Given the description of an element on the screen output the (x, y) to click on. 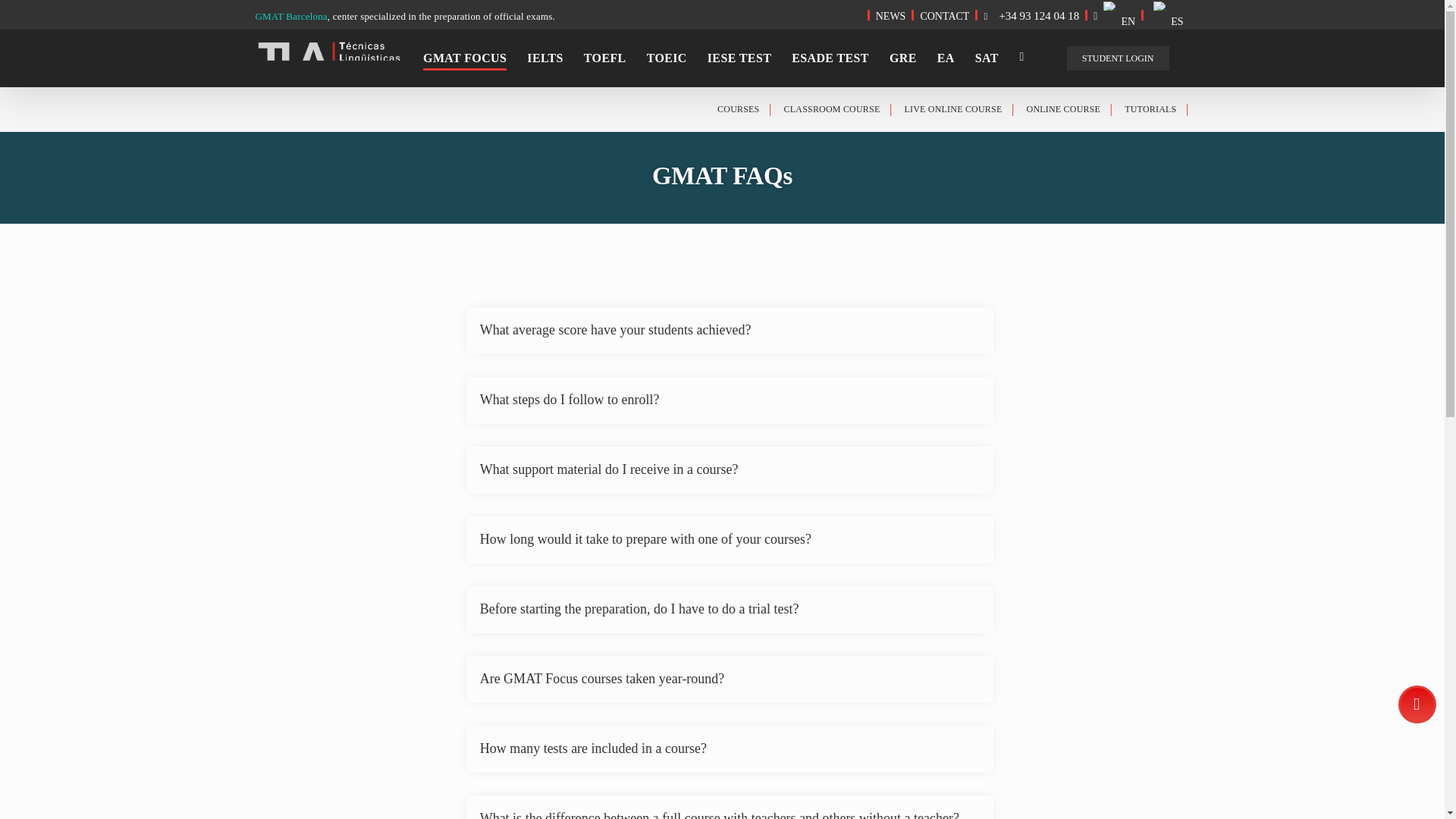
ESADE TEST (830, 57)
CONTACT (944, 15)
ES (1165, 15)
IESE TEST (739, 57)
EN (1114, 15)
NEWS (890, 15)
GMAT FOCUS (464, 57)
